Given the description of an element on the screen output the (x, y) to click on. 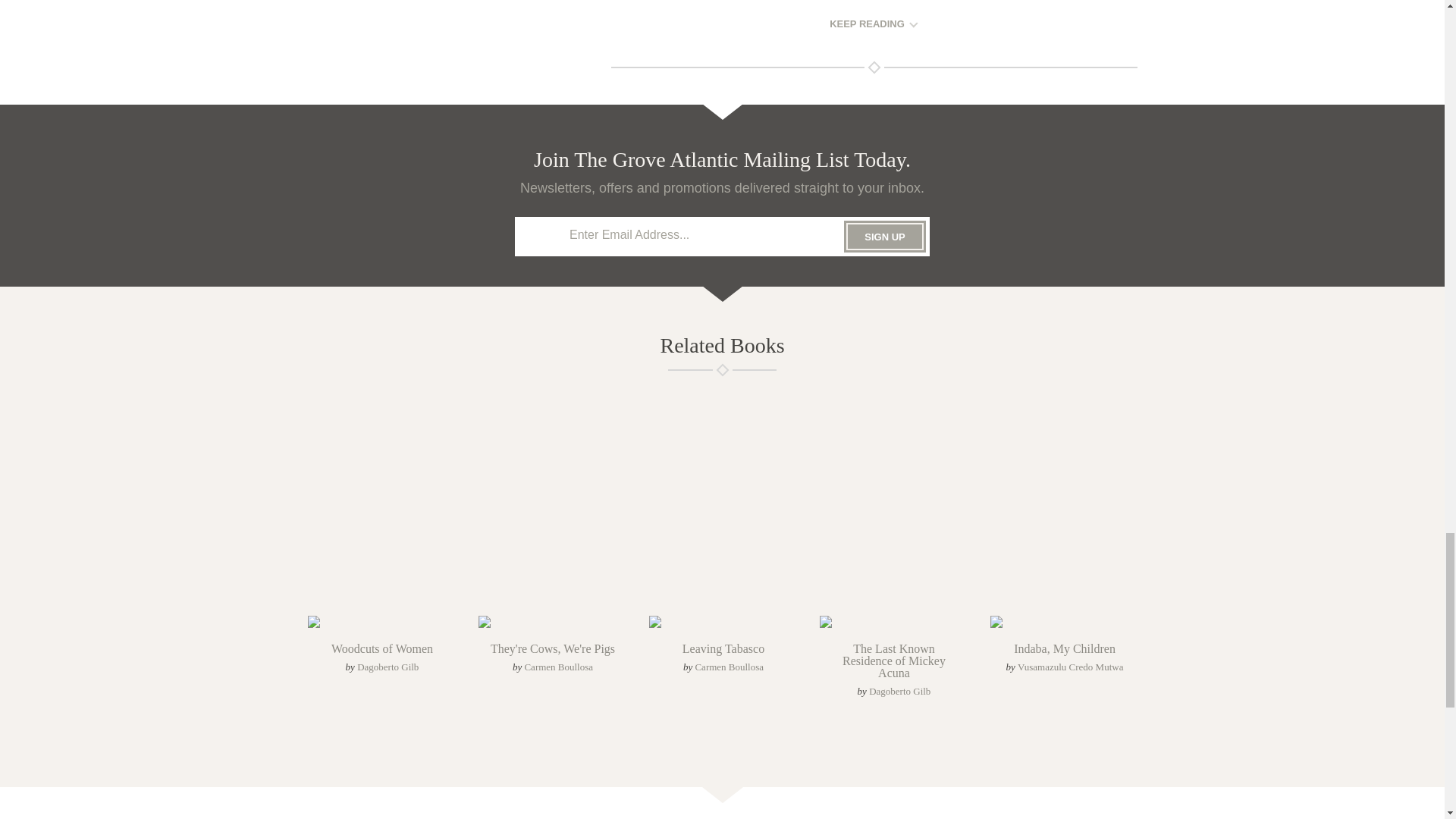
SIGN UP (885, 236)
